Given the description of an element on the screen output the (x, y) to click on. 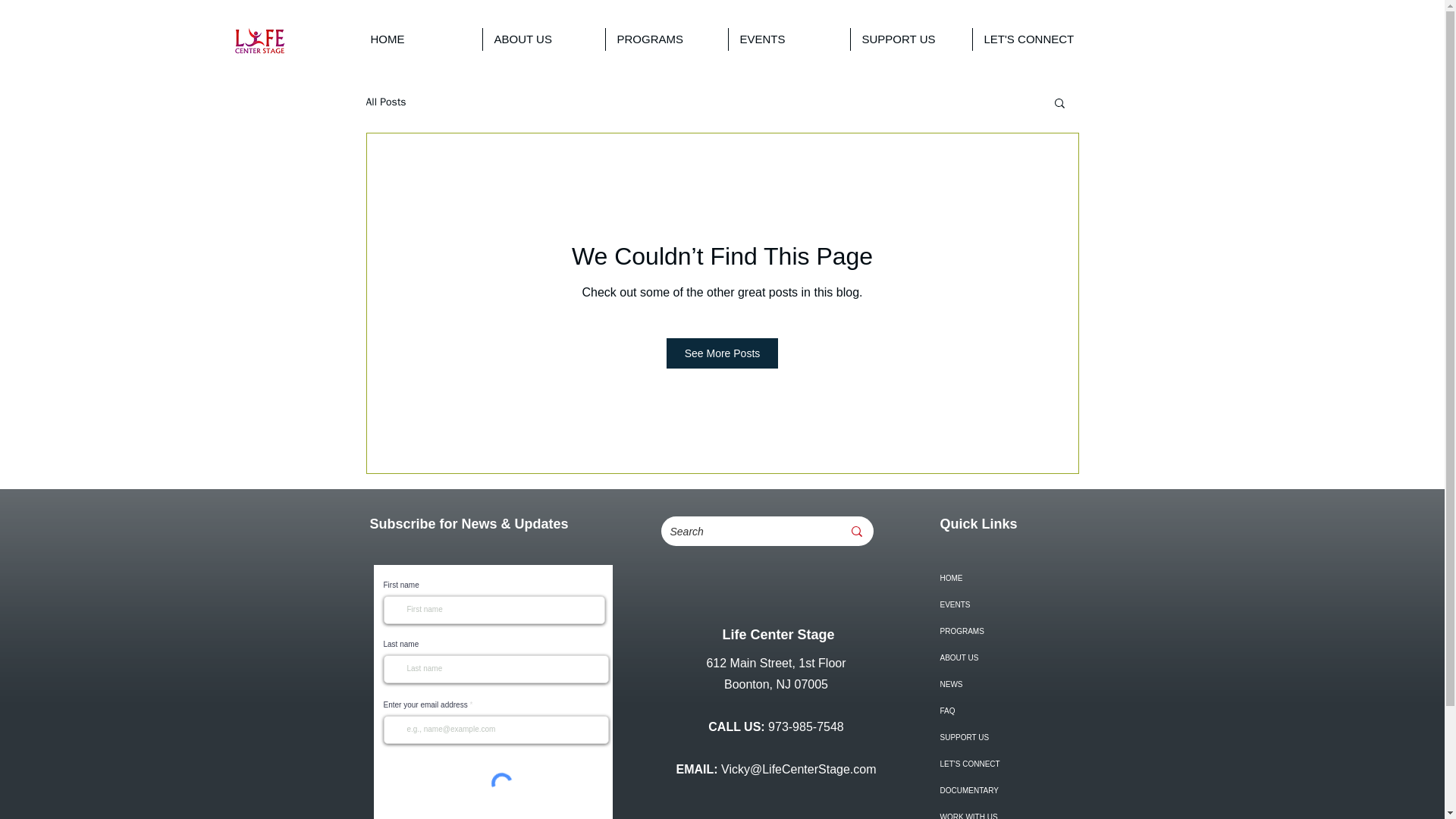
LET'S CONNECT (1002, 764)
WORK WITH US (1002, 811)
EVENTS (788, 38)
NEWS (1002, 683)
EVENTS (1002, 604)
HOME (420, 38)
ABOUT US (1002, 657)
SUPPORT US (911, 38)
LET'S CONNECT (1032, 38)
FAQ (1002, 710)
See More Posts (722, 353)
Life-center-stage-logo-transparent.png (259, 40)
SUPPORT US (1002, 737)
All Posts (385, 101)
DOCUMENTARY (1002, 790)
